Given the description of an element on the screen output the (x, y) to click on. 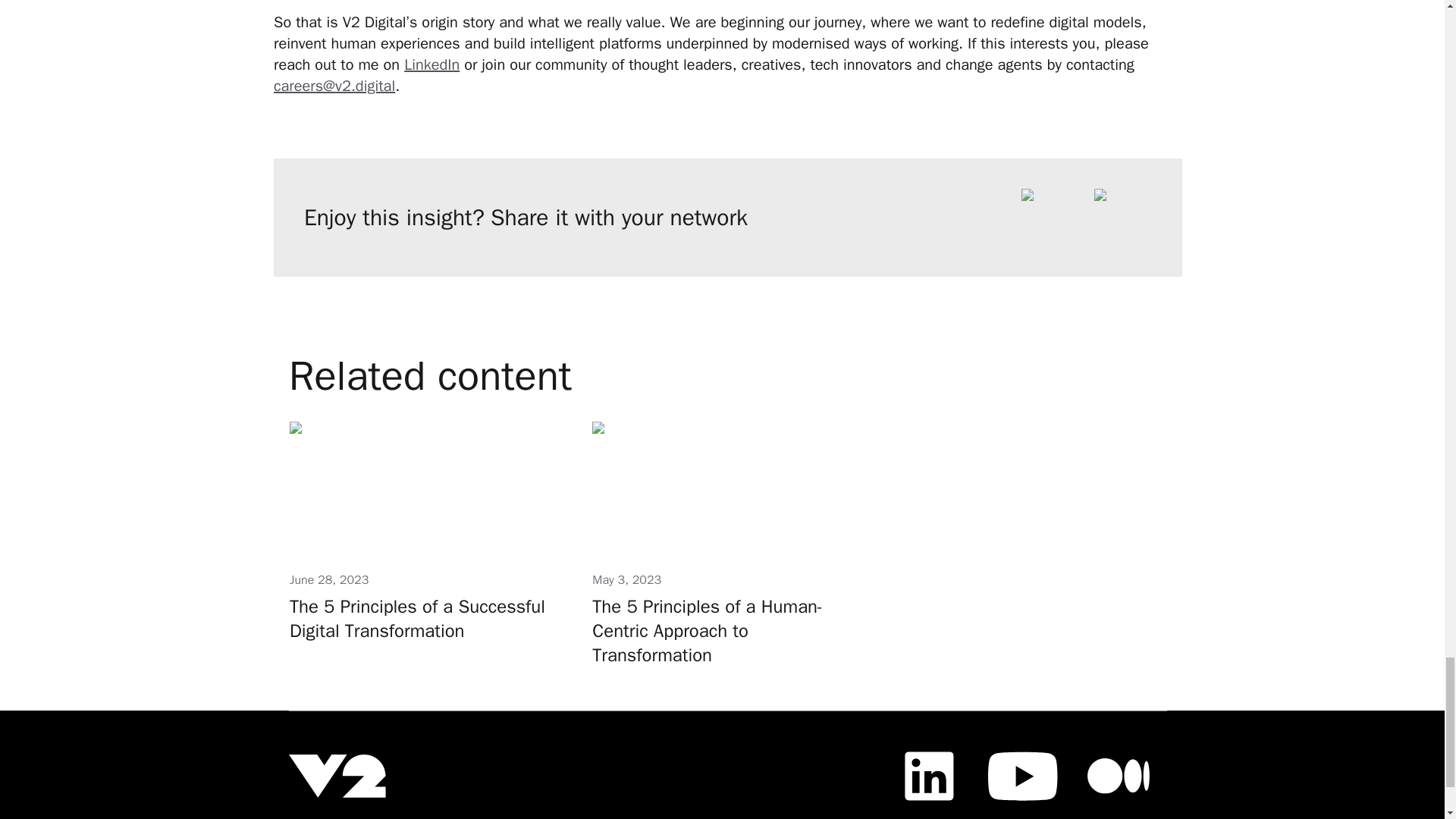
LinkedIn (432, 64)
